Given the description of an element on the screen output the (x, y) to click on. 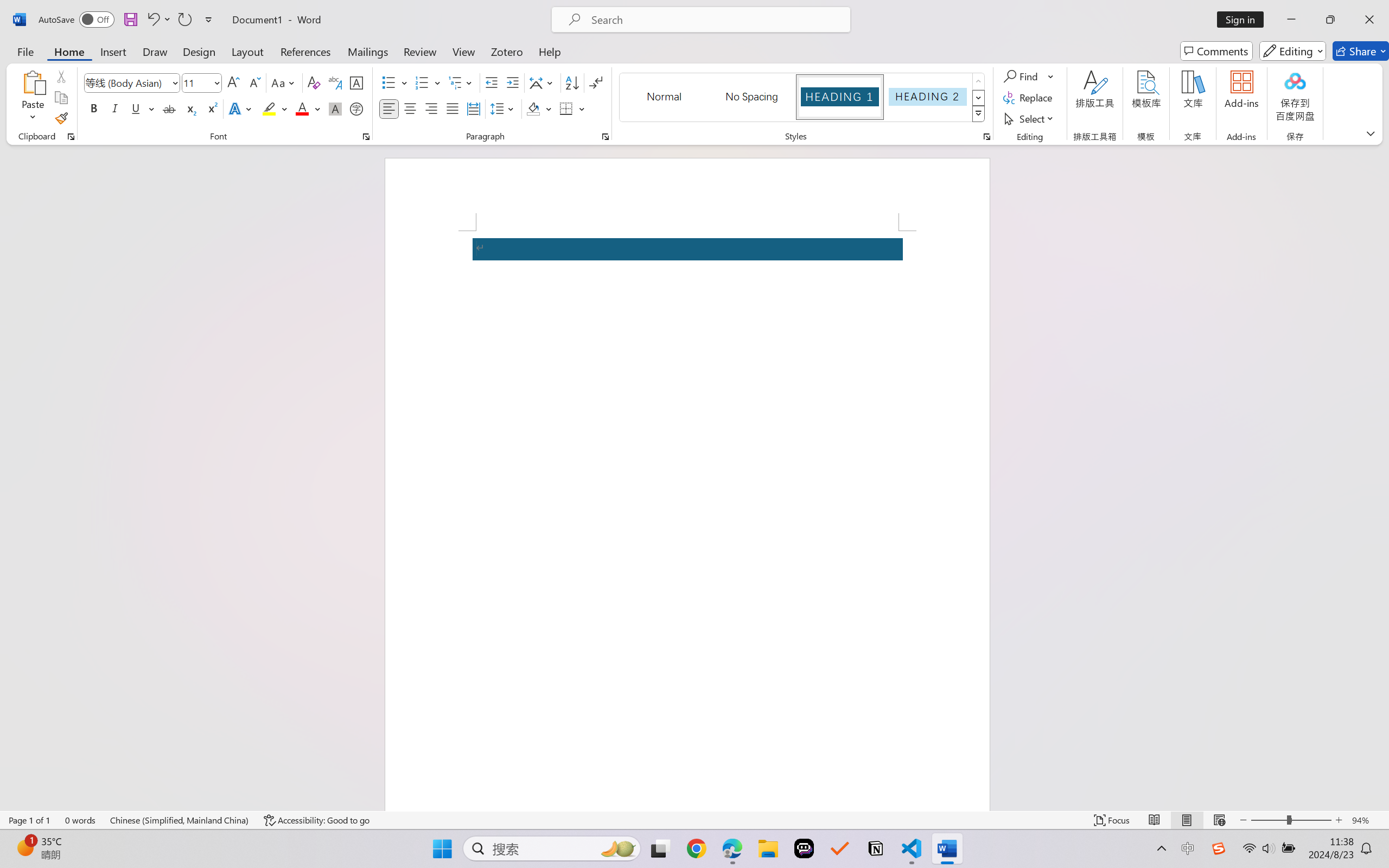
Live (61, 420)
Press (45, 745)
YouTube Home (62, 68)
New Tab (190, 12)
Movies (61, 396)
How YouTube works (44, 796)
History (61, 216)
Trending (61, 348)
Search with your voice (862, 69)
Subscriptions - YouTube (1097, 12)
